Given the description of an element on the screen output the (x, y) to click on. 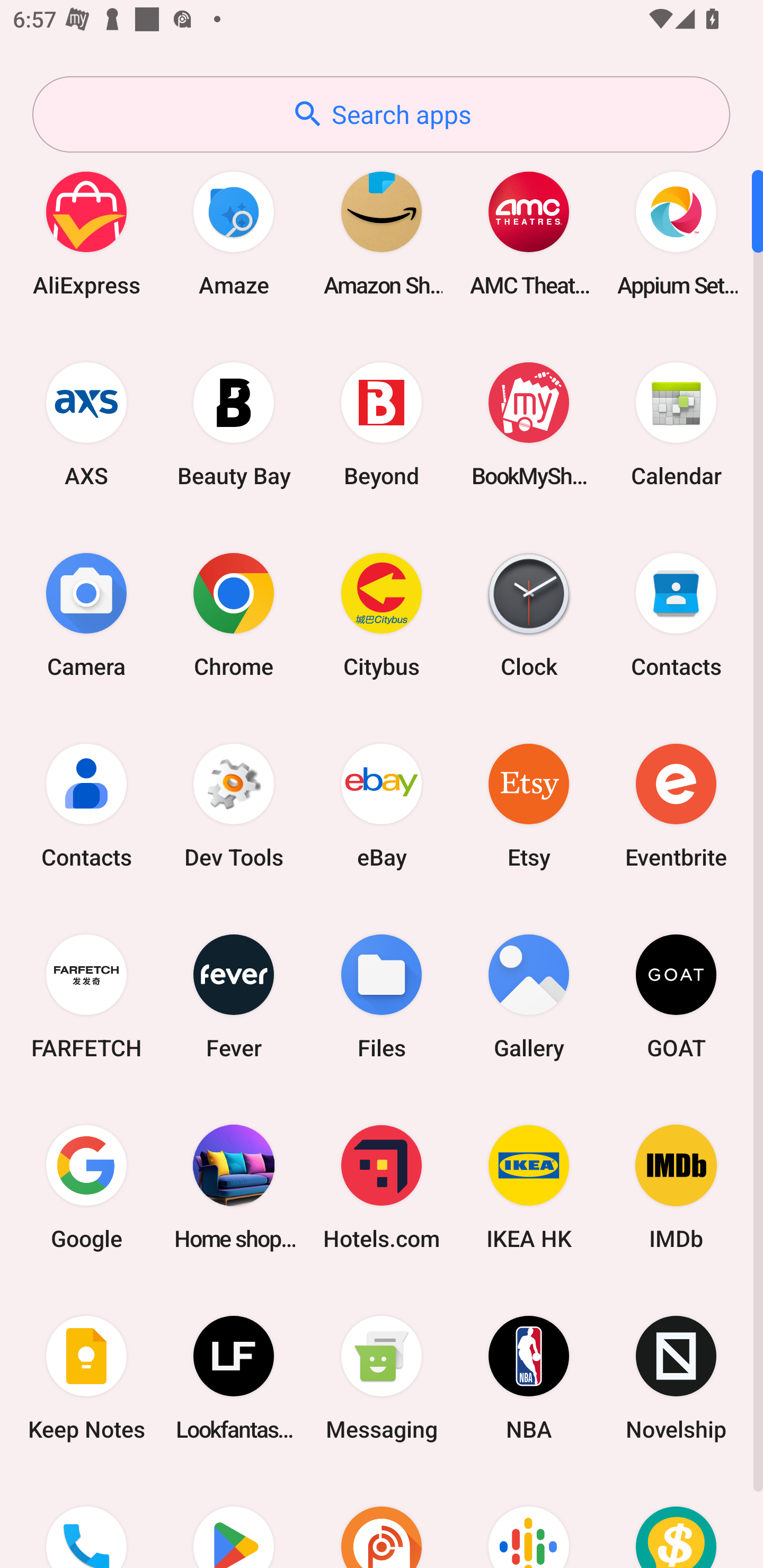
  Search apps (381, 114)
AliExpress (86, 233)
Amaze (233, 233)
Amazon Shopping (381, 233)
AMC Theatres (528, 233)
Appium Settings (676, 233)
AXS (86, 424)
Beauty Bay (233, 424)
Beyond (381, 424)
BookMyShow (528, 424)
Calendar (676, 424)
Camera (86, 614)
Chrome (233, 614)
Citybus (381, 614)
Clock (528, 614)
Contacts (676, 614)
Contacts (86, 805)
Dev Tools (233, 805)
eBay (381, 805)
Etsy (528, 805)
Eventbrite (676, 805)
FARFETCH (86, 996)
Fever (233, 996)
Files (381, 996)
Gallery (528, 996)
GOAT (676, 996)
Google (86, 1186)
Home shopping (233, 1186)
Hotels.com (381, 1186)
IKEA HK (528, 1186)
IMDb (676, 1186)
Keep Notes (86, 1377)
Lookfantastic (233, 1377)
Messaging (381, 1377)
NBA (528, 1377)
Novelship (676, 1377)
Phone (86, 1520)
Play Store (233, 1520)
Podcast Addict (381, 1520)
Podcasts (528, 1520)
Price (676, 1520)
